Given the description of an element on the screen output the (x, y) to click on. 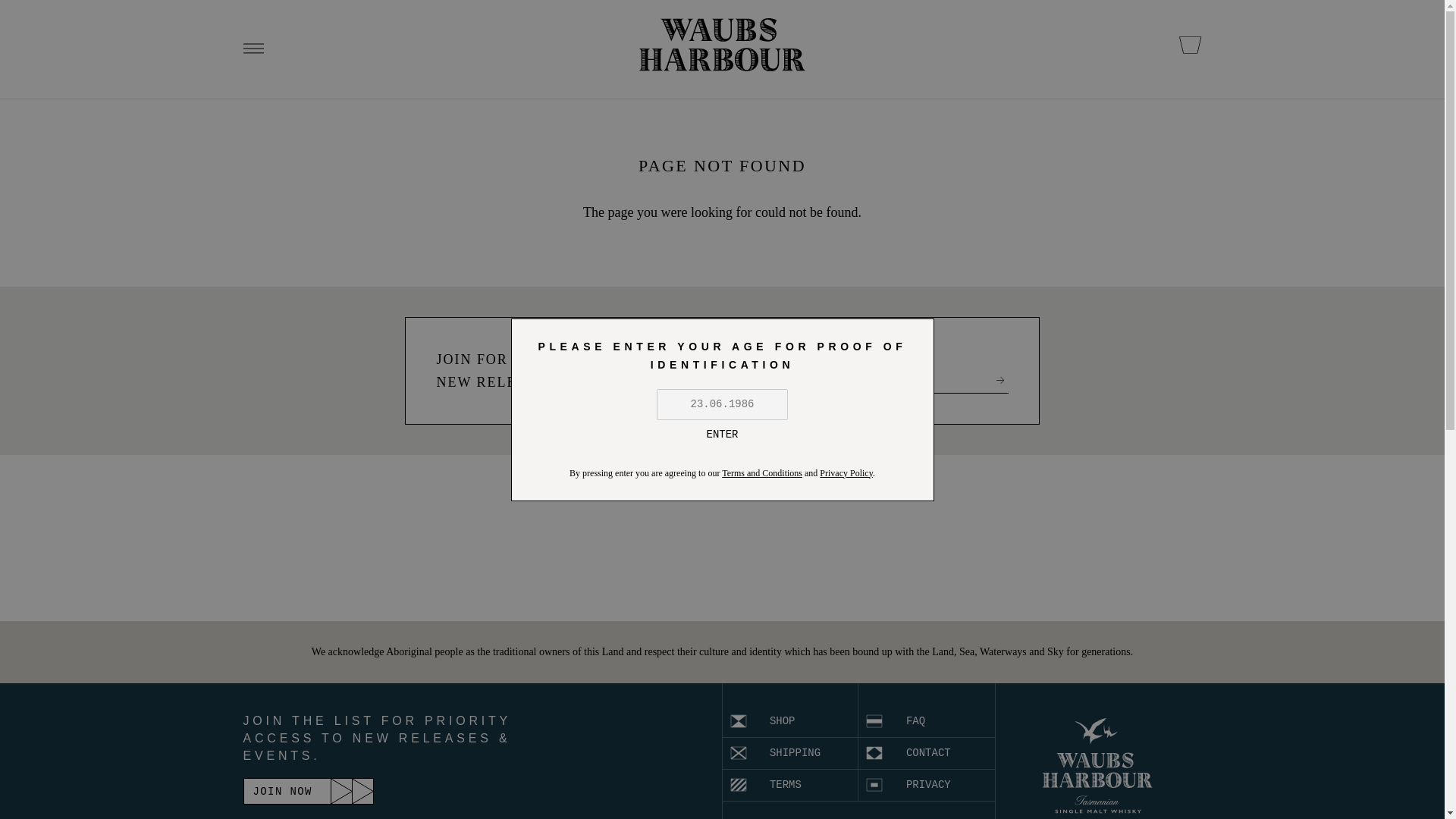
JOIN NOW (307, 791)
Privacy Policy (845, 471)
SHOP (790, 721)
FAQ (926, 721)
SHIPPING (790, 753)
Terms and Conditions (762, 471)
TERMS (790, 785)
CONTACT (926, 753)
PRIVACY (926, 785)
ENTER (721, 433)
